Given the description of an element on the screen output the (x, y) to click on. 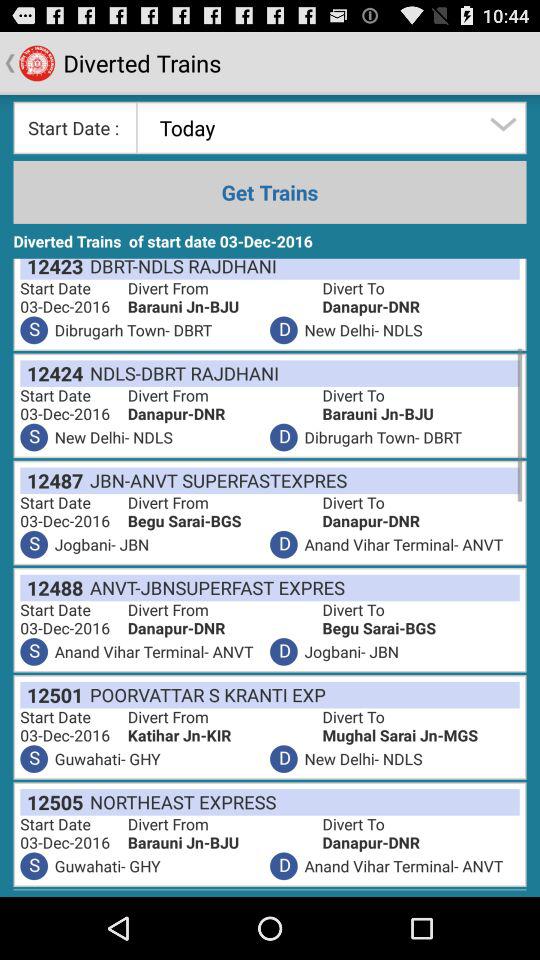
jump to the poorvattar s kranti app (204, 694)
